Given the description of an element on the screen output the (x, y) to click on. 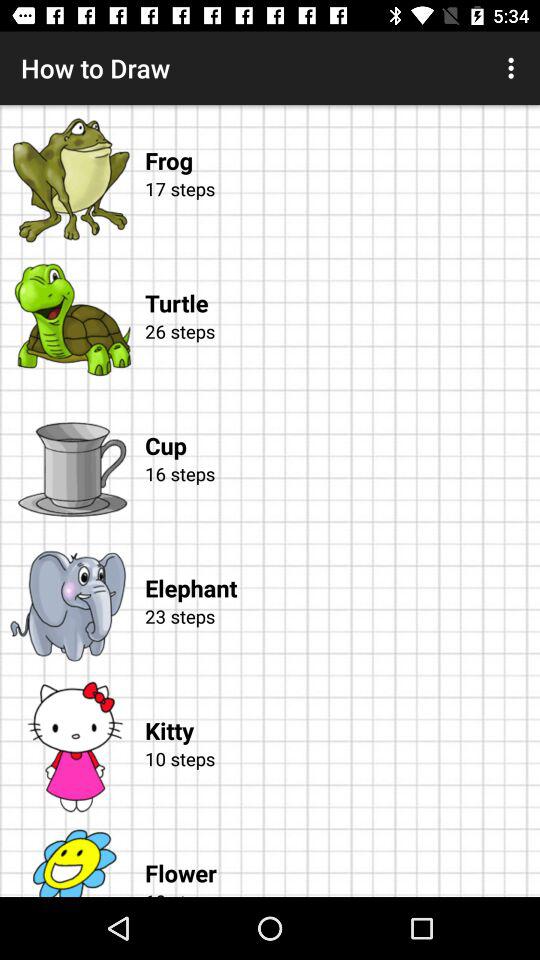
tap the turtle icon (342, 283)
